Given the description of an element on the screen output the (x, y) to click on. 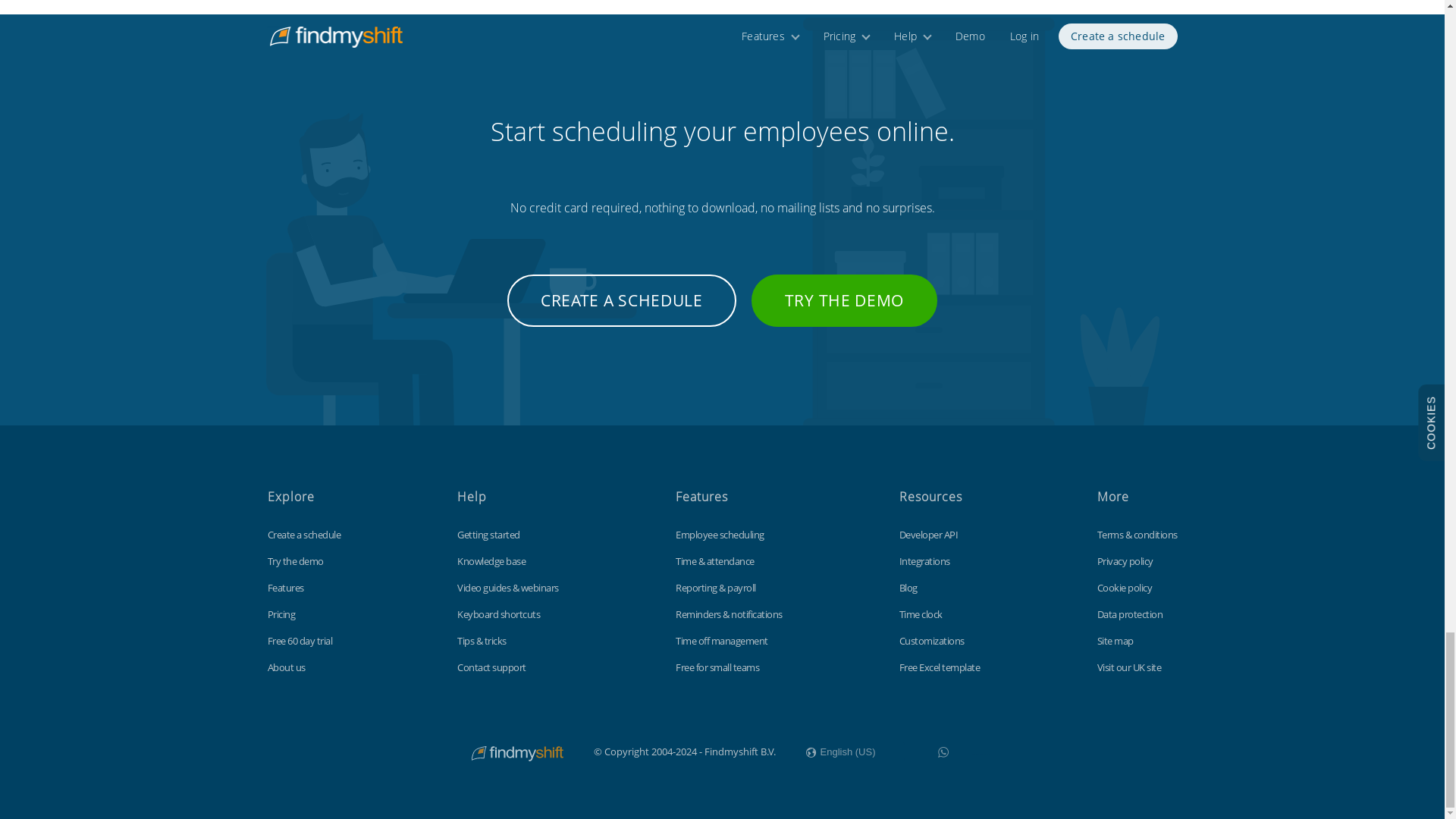
CREATE A SCHEDULE (621, 300)
WhatsApp (943, 752)
TRY THE DEMO (844, 300)
Create a schedule (303, 534)
Try the demo (294, 561)
Knowledge base (491, 561)
About us (285, 667)
Getting started (488, 534)
Free 60 day trial (298, 640)
Pricing (280, 613)
Features (284, 587)
